Given the description of an element on the screen output the (x, y) to click on. 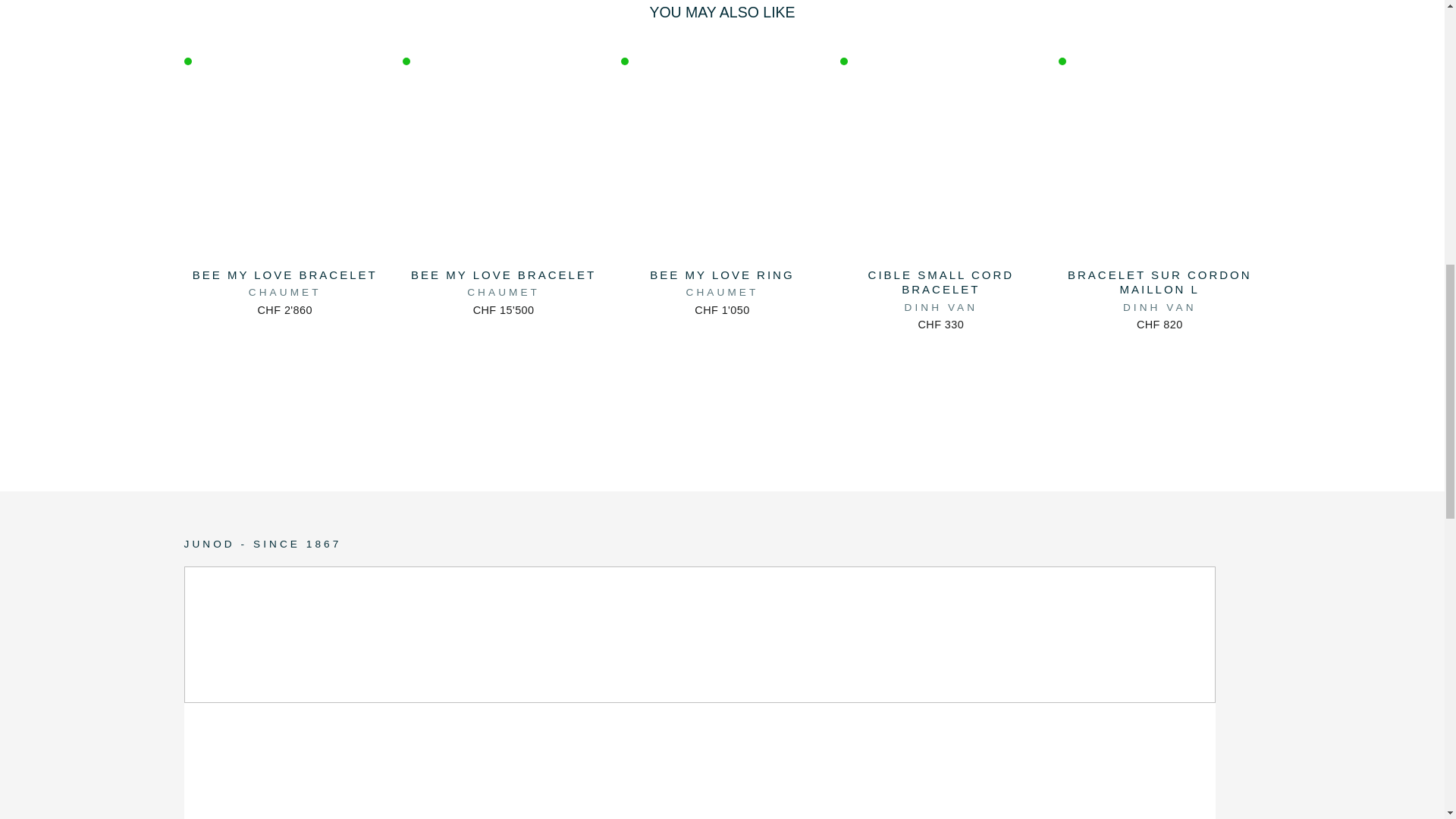
Available (843, 61)
Available (186, 61)
Available (624, 61)
Available (1061, 61)
Available (406, 61)
